Given the description of an element on the screen output the (x, y) to click on. 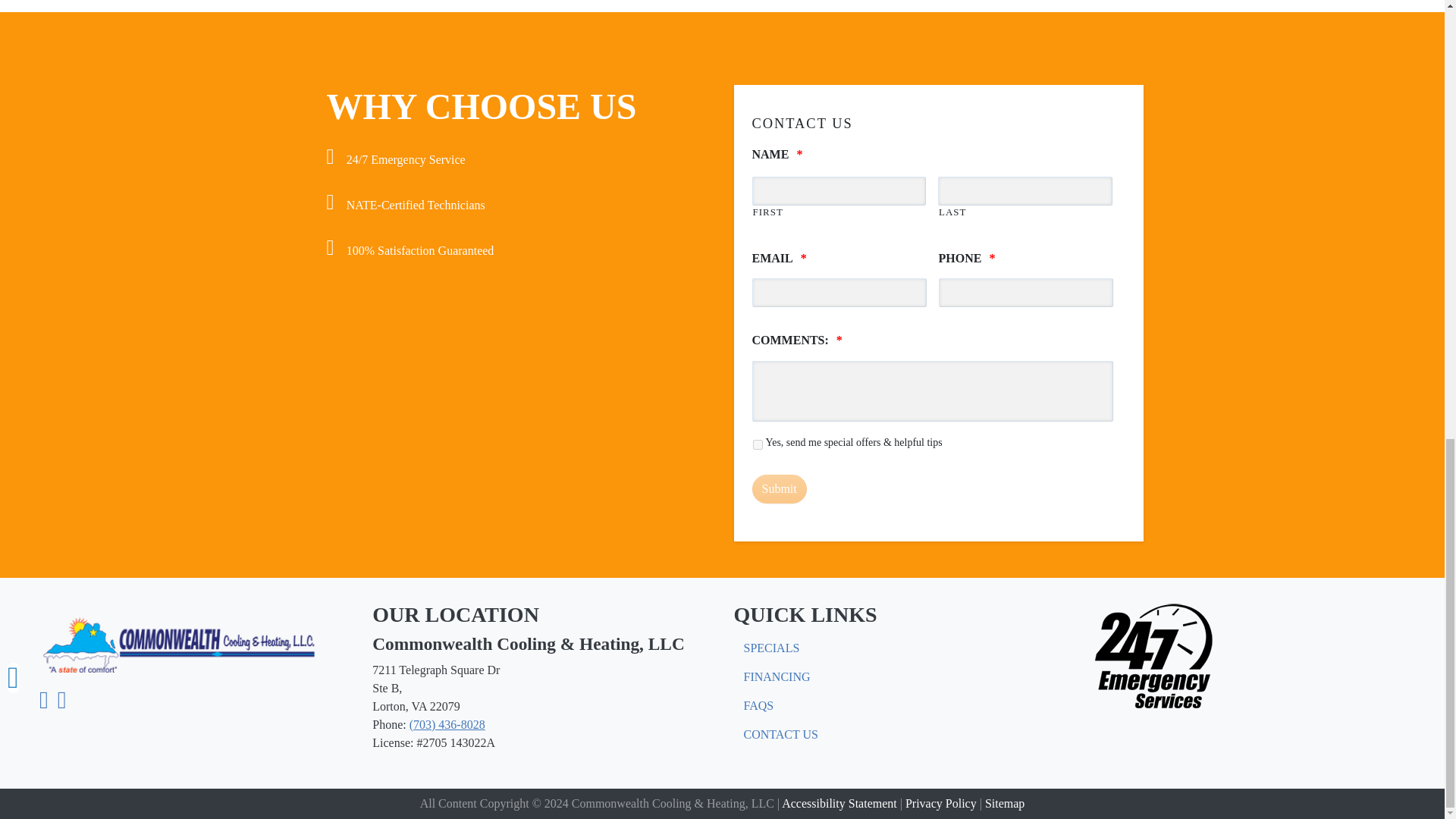
Submit (779, 489)
Subscribe to Us (62, 703)
SPECIALS (771, 647)
Like Us on Facebook (43, 703)
